Given the description of an element on the screen output the (x, y) to click on. 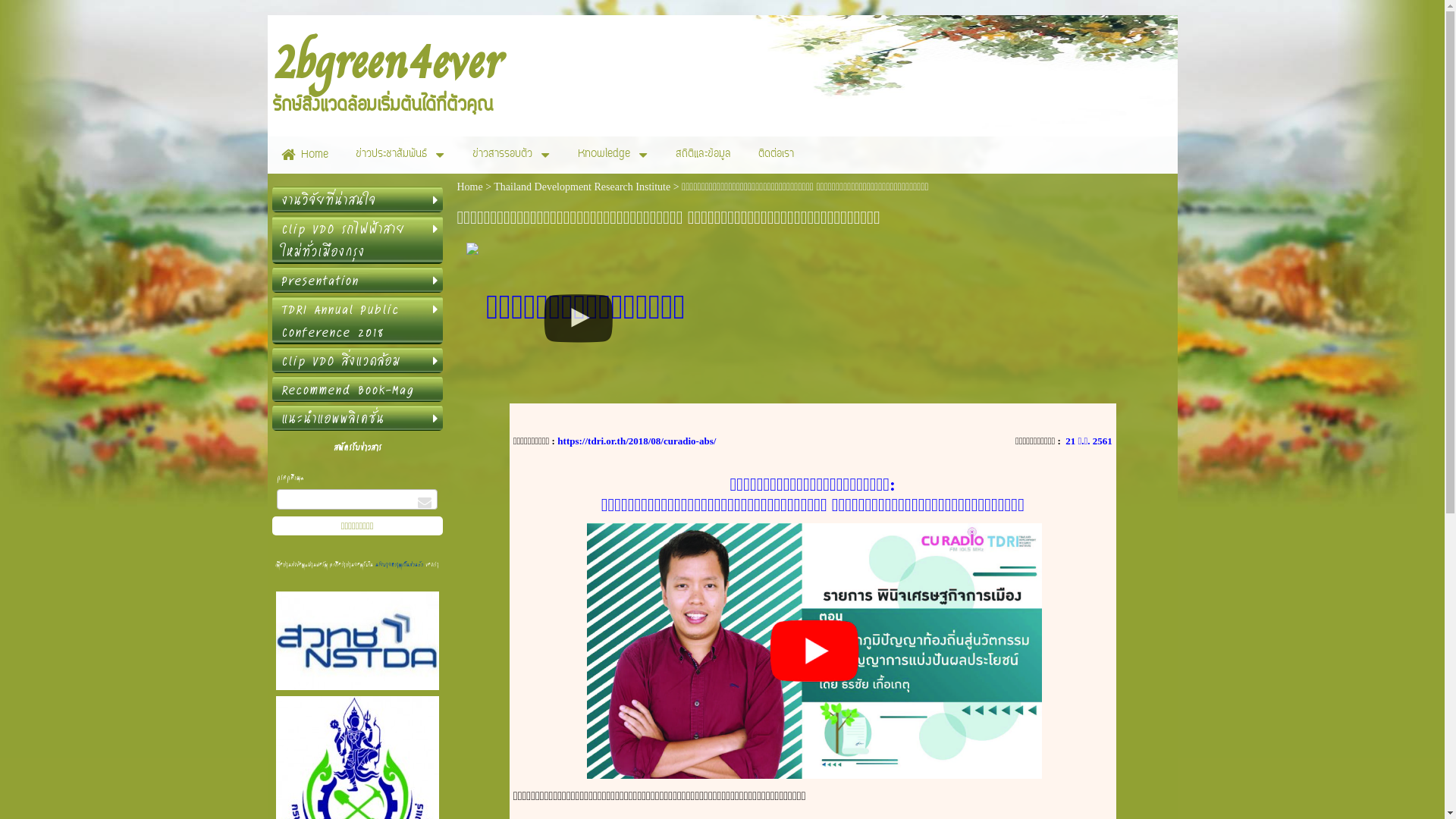
TDRI Annual Public Conference 2018 Element type: text (349, 319)
Presentation Element type: text (349, 279)
Home Element type: text (469, 186)
Home Element type: text (303, 154)
Recommend Book-Mag Element type: text (349, 388)
Knowledge Element type: text (603, 154)
https://tdri.or.th/2018/08/curadio-abs/ Element type: text (636, 440)
